Given the description of an element on the screen output the (x, y) to click on. 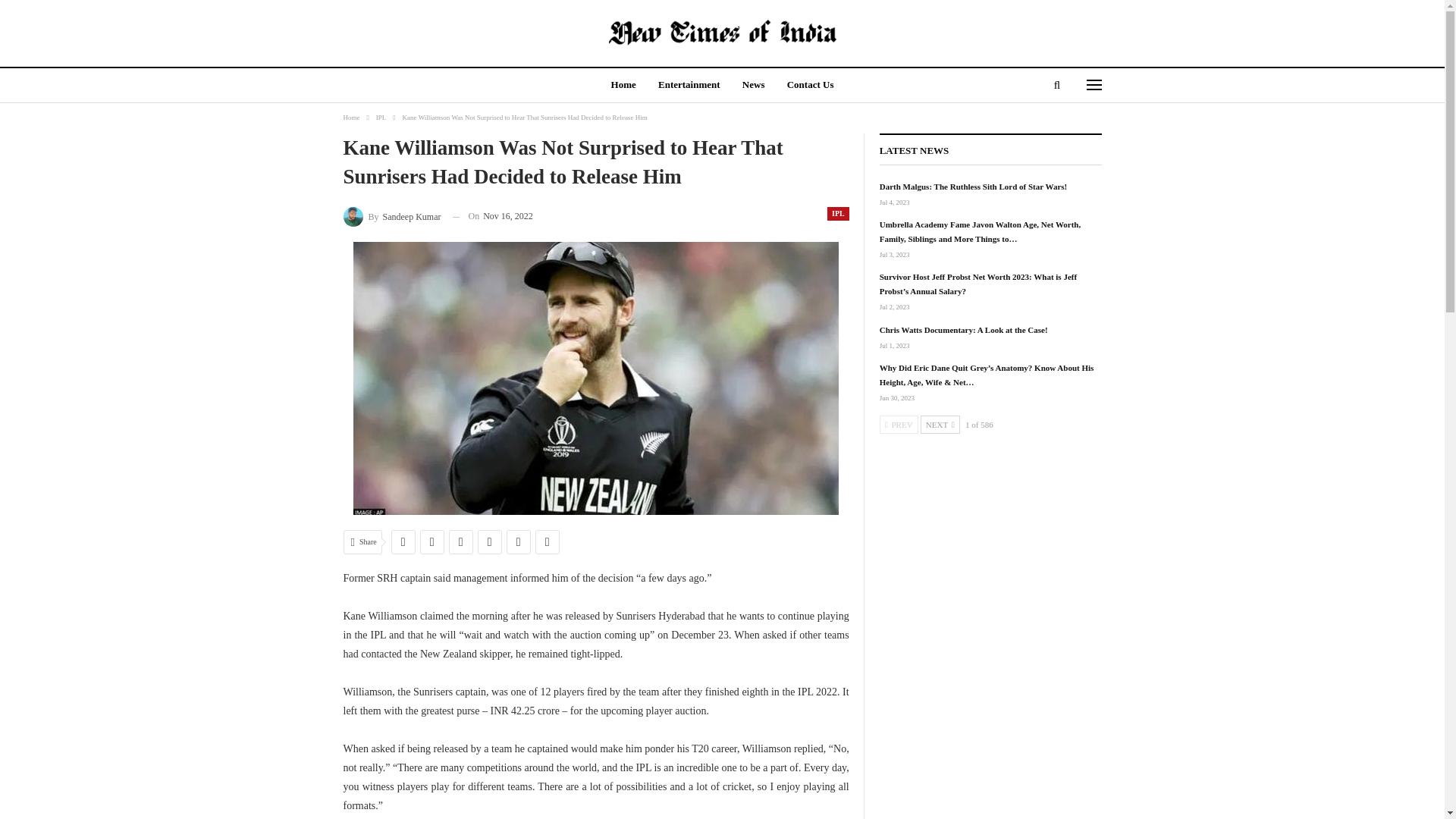
Contact Us (810, 85)
Home (623, 85)
IPL (837, 213)
News (753, 85)
Entertainment (689, 85)
By Sandeep Kumar (391, 216)
Home (350, 117)
Browse Author Articles (391, 216)
